Given the description of an element on the screen output the (x, y) to click on. 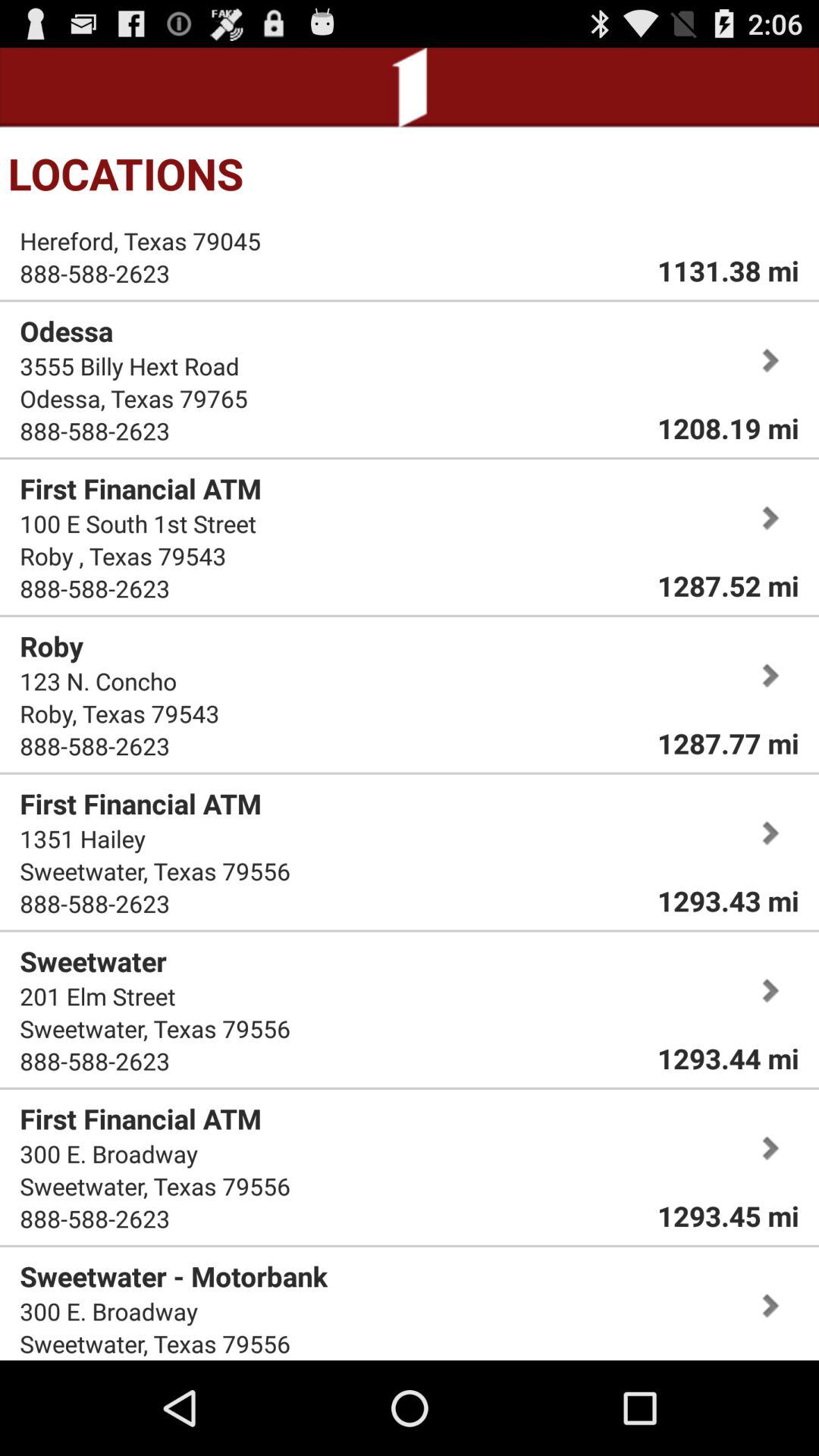
select the sweetwater - motorbank icon (173, 1276)
